Given the description of an element on the screen output the (x, y) to click on. 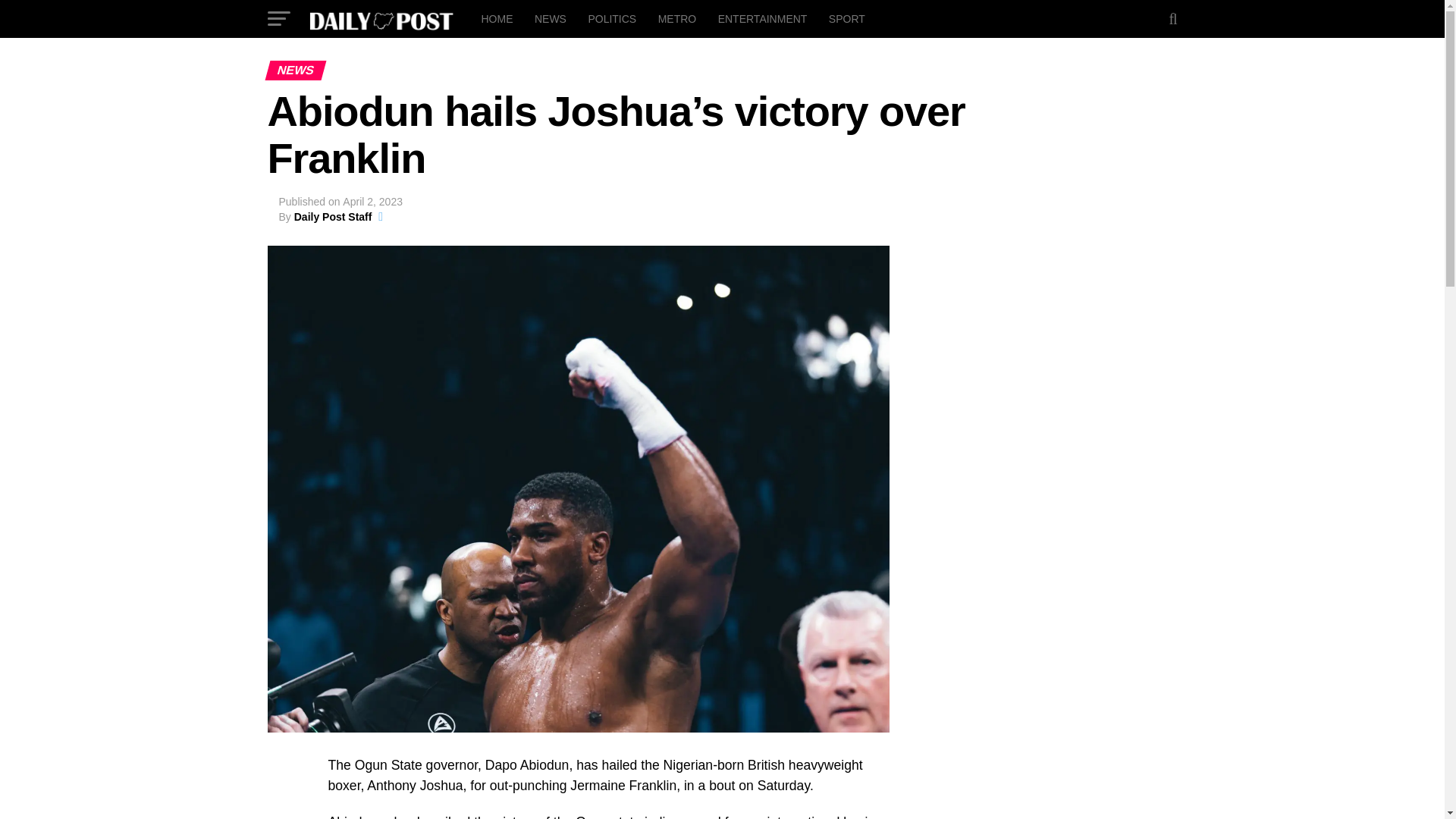
Daily Post Staff (333, 216)
SPORT (847, 18)
POLITICS (611, 18)
HOME (496, 18)
Posts by Daily Post Staff (333, 216)
ENTERTAINMENT (762, 18)
METRO (677, 18)
NEWS (550, 18)
